Given the description of an element on the screen output the (x, y) to click on. 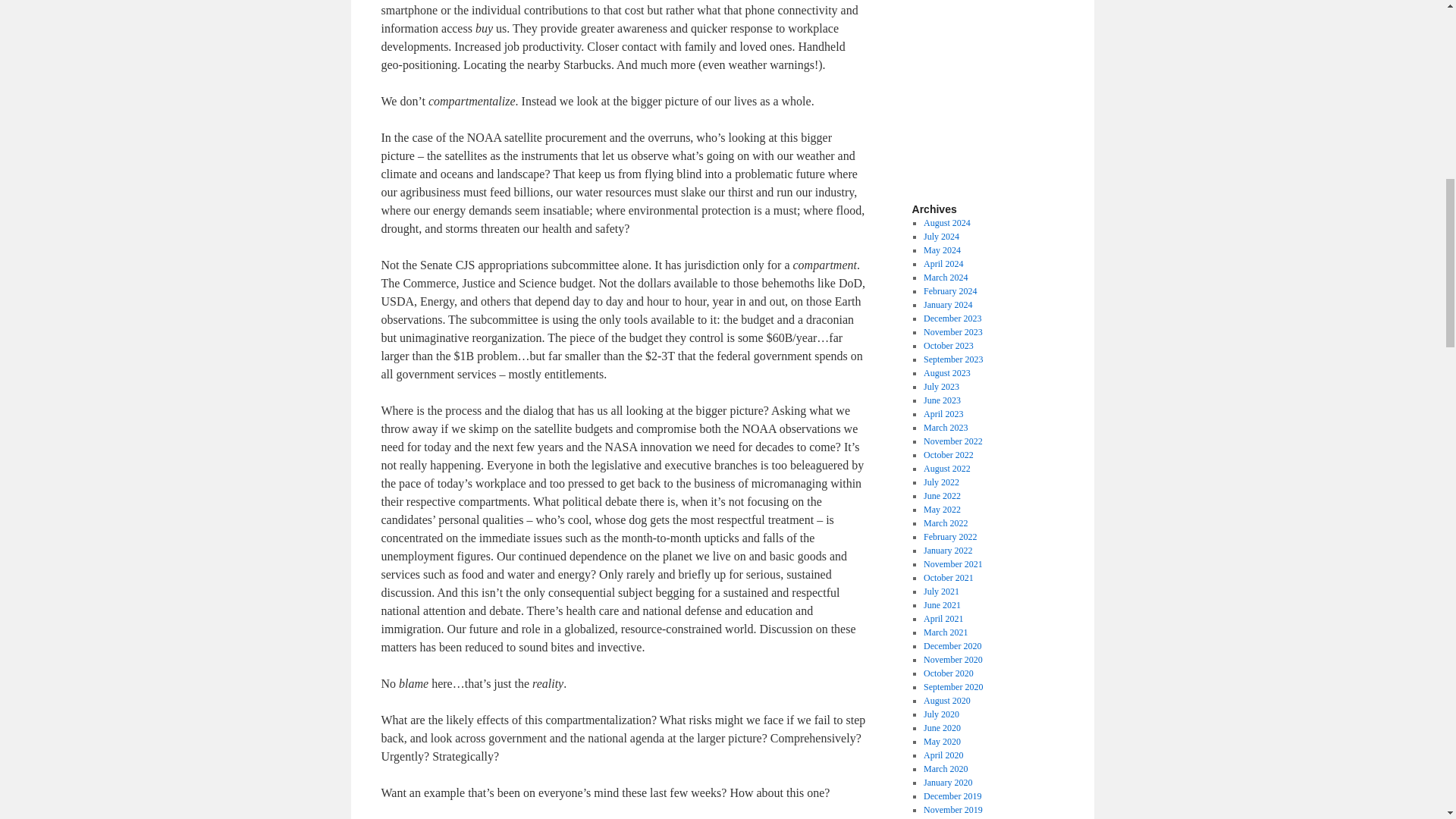
March 2024 (945, 276)
July 2024 (941, 235)
April 2024 (942, 263)
February 2024 (949, 290)
May 2024 (941, 249)
August 2024 (947, 222)
